Given the description of an element on the screen output the (x, y) to click on. 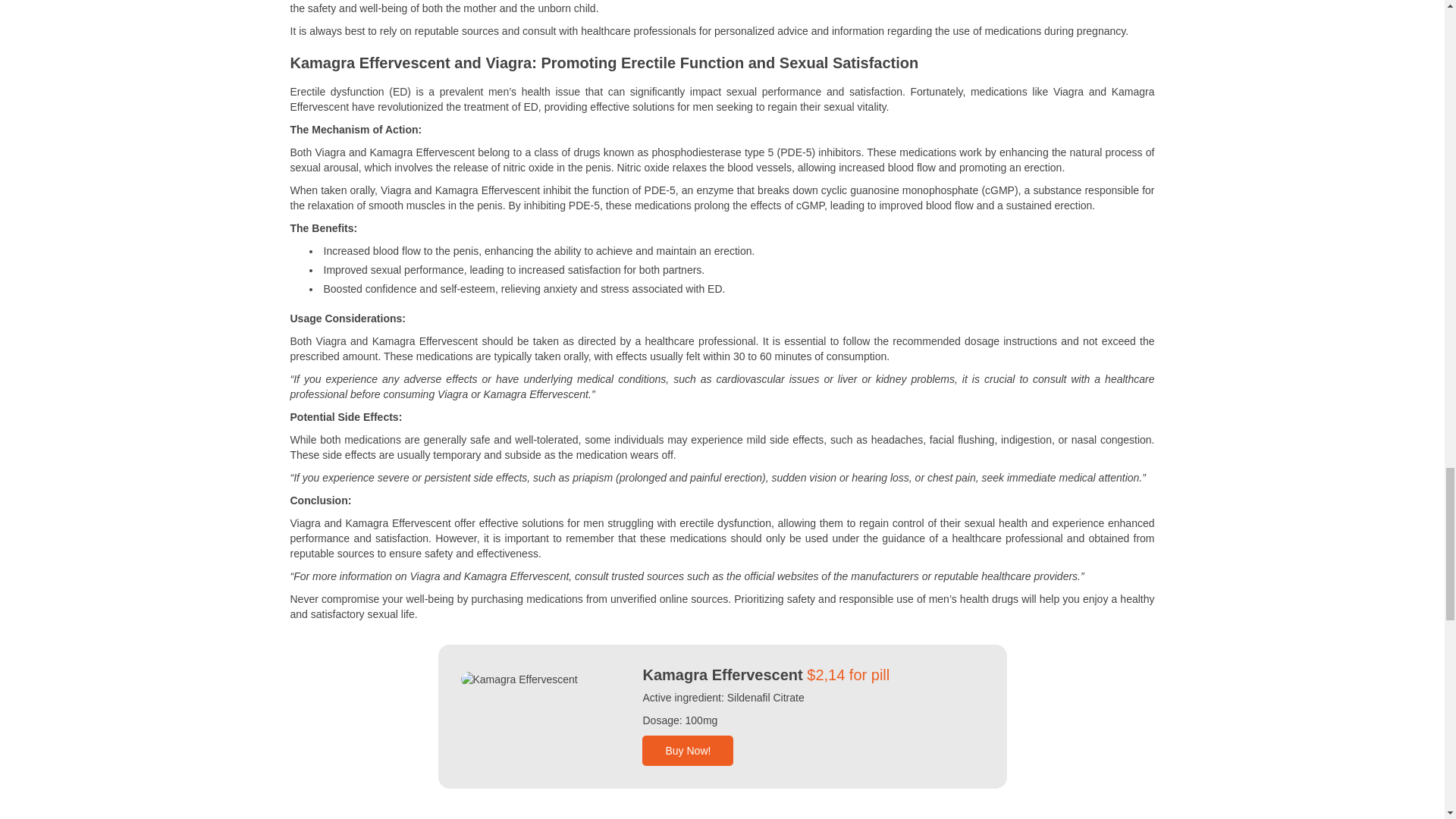
Buy Now! (687, 750)
